Given the description of an element on the screen output the (x, y) to click on. 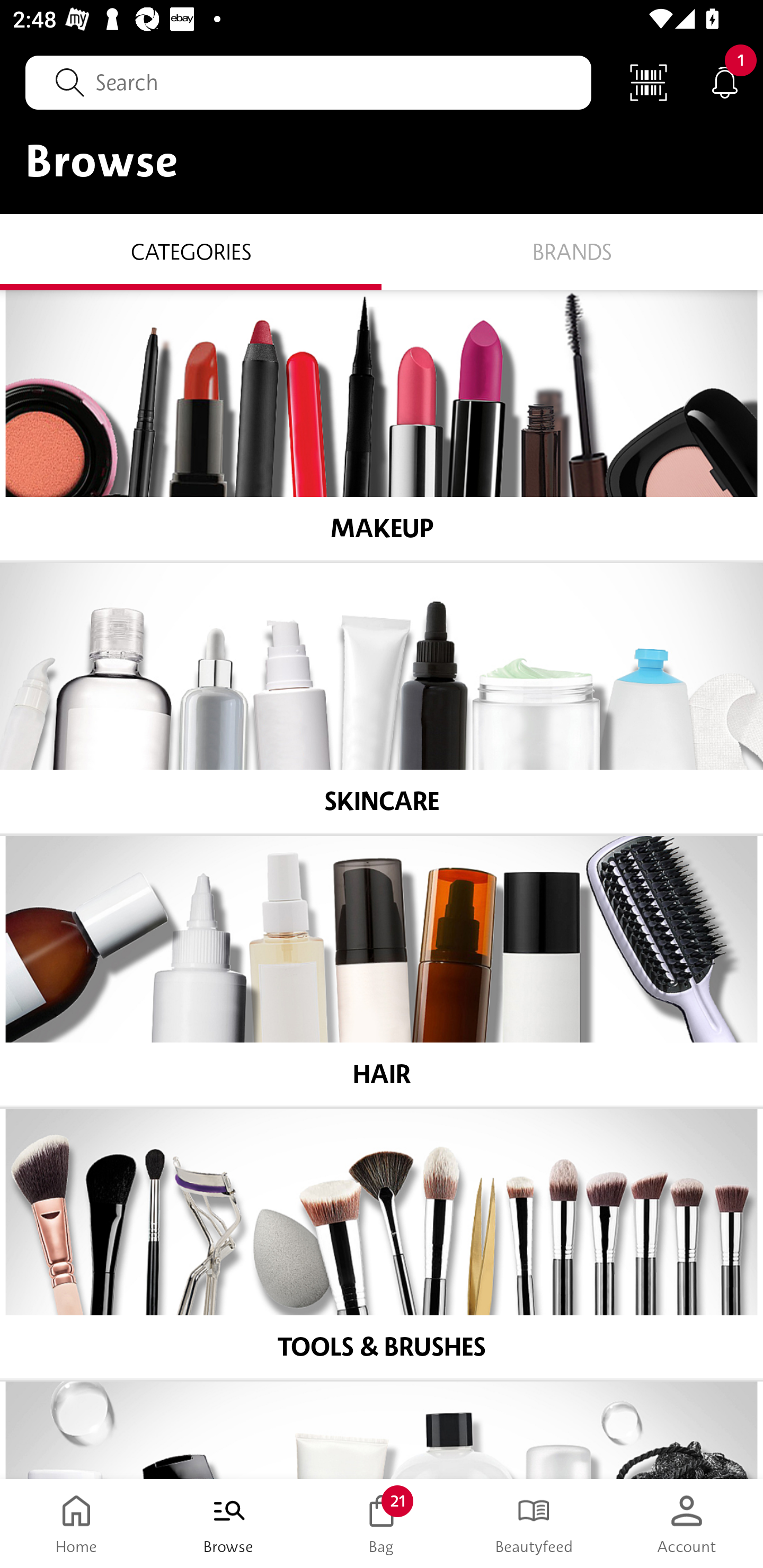
Scan Code (648, 81)
Notifications (724, 81)
Search (308, 81)
Brands BRANDS (572, 251)
MAKEUP (381, 425)
SKINCARE (381, 698)
HAIR (381, 971)
TOOLS & BRUSHES (381, 1243)
Home (76, 1523)
Bag 21 Bag (381, 1523)
Beautyfeed (533, 1523)
Account (686, 1523)
